Given the description of an element on the screen output the (x, y) to click on. 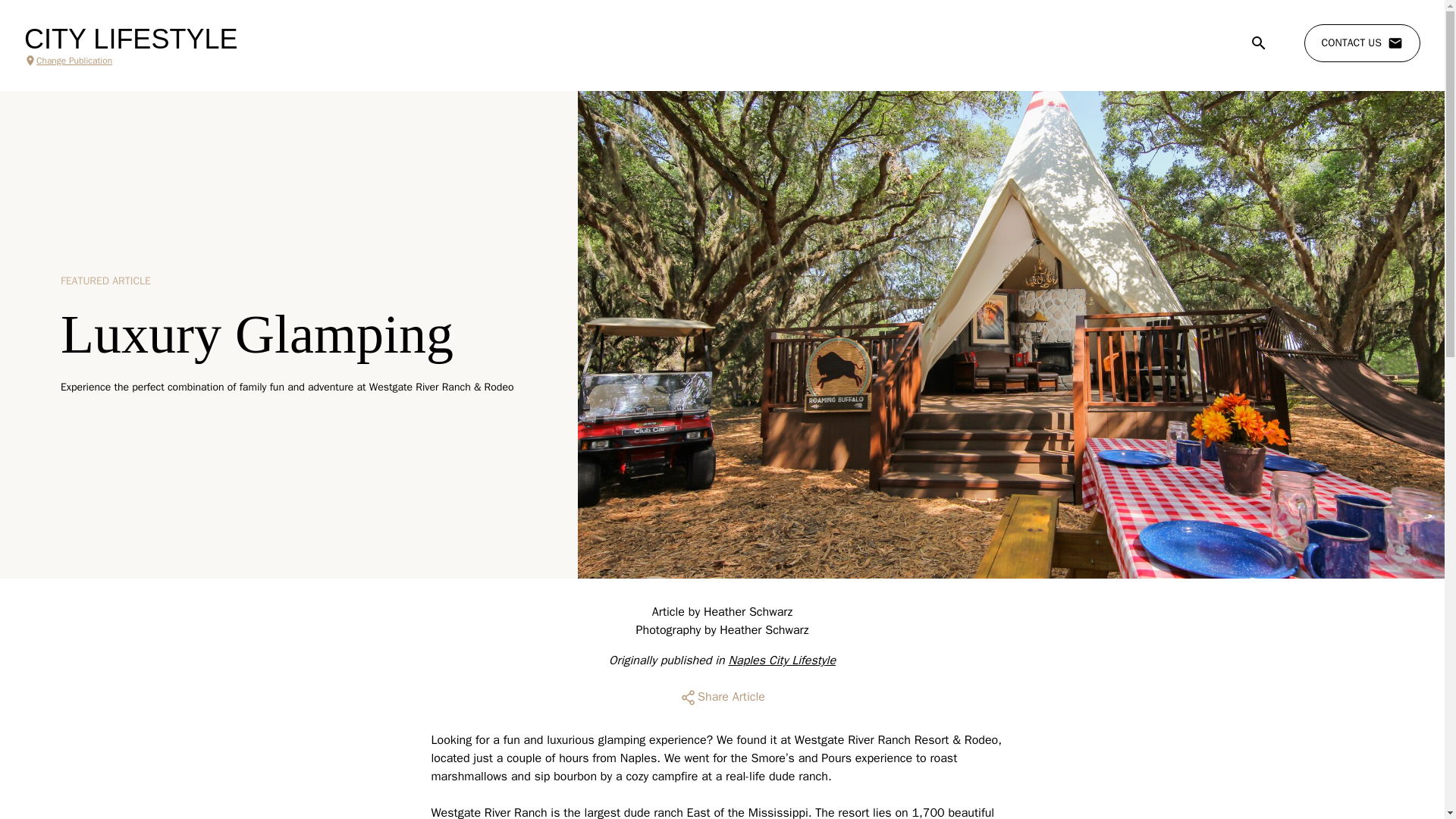
CONTACT US (1362, 43)
Share Article (722, 696)
CITY LIFESTYLE (130, 39)
Naples City Lifestyle (781, 660)
Change Publication (130, 60)
